Given the description of an element on the screen output the (x, y) to click on. 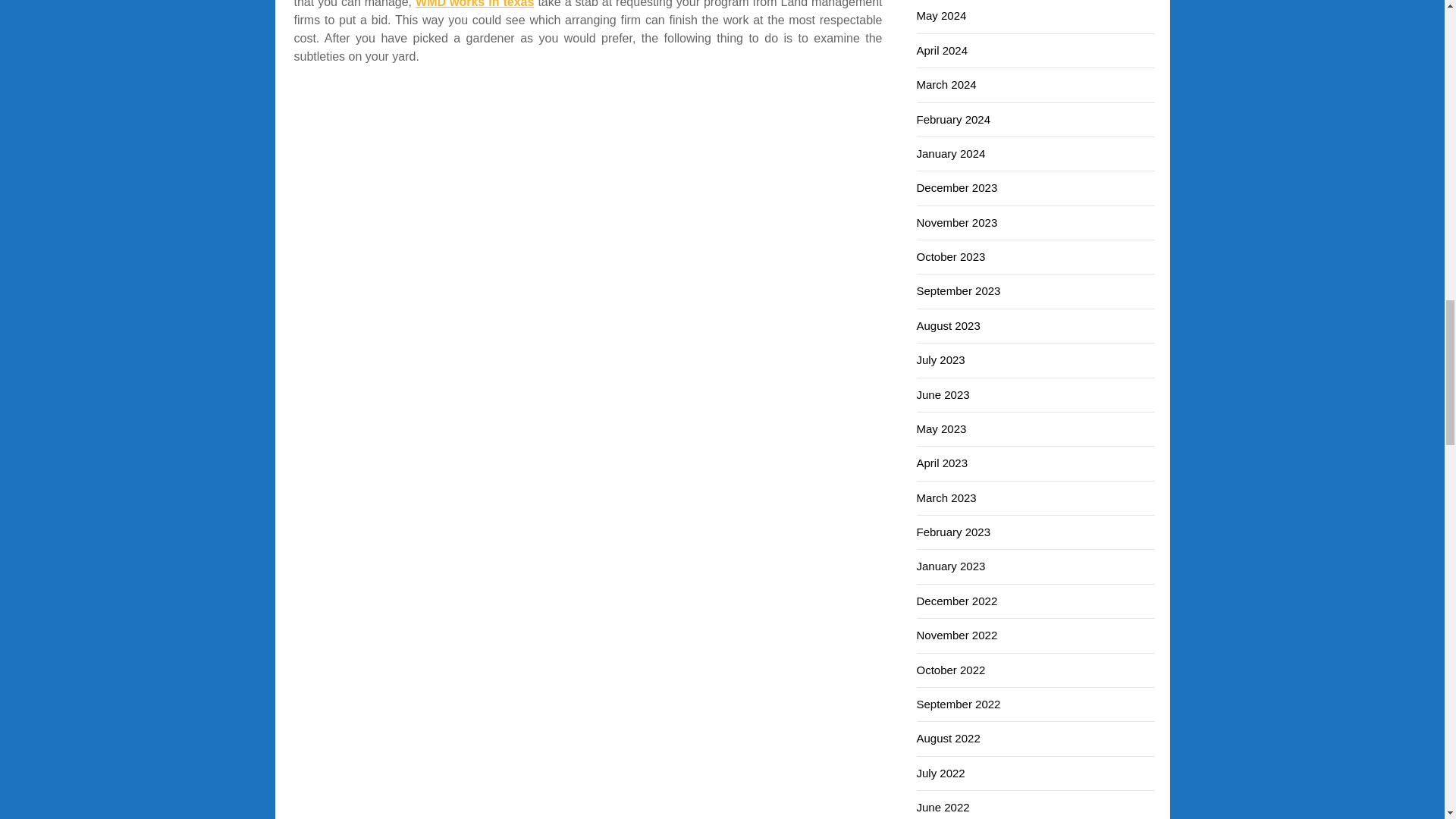
April 2023 (941, 462)
July 2023 (939, 359)
January 2023 (950, 565)
September 2023 (957, 290)
January 2024 (950, 153)
May 2024 (940, 15)
April 2024 (941, 50)
November 2023 (956, 222)
February 2023 (952, 531)
May 2023 (940, 428)
